Given the description of an element on the screen output the (x, y) to click on. 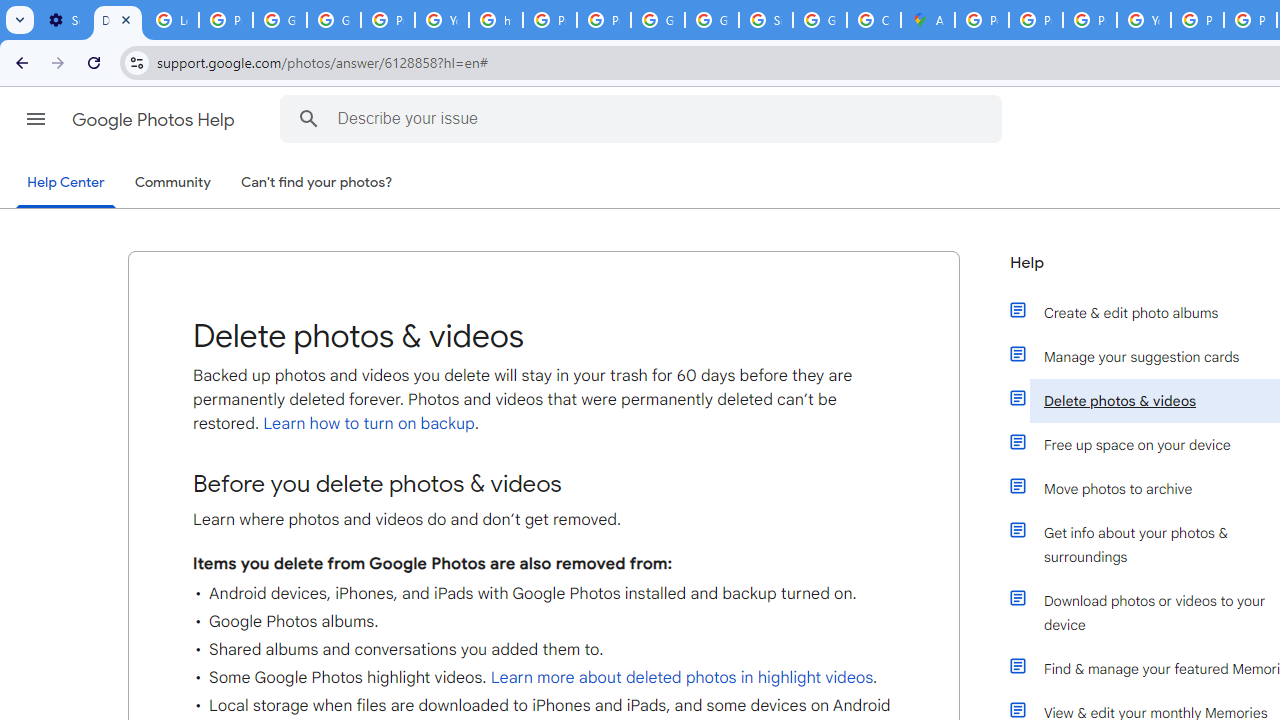
Google Account Help (280, 20)
https://scholar.google.com/ (495, 20)
 Learn how to turn on backup (366, 423)
Settings - On startup (63, 20)
Create your Google Account (874, 20)
Learn more about deleted photos in highlight videos (682, 678)
